Given the description of an element on the screen output the (x, y) to click on. 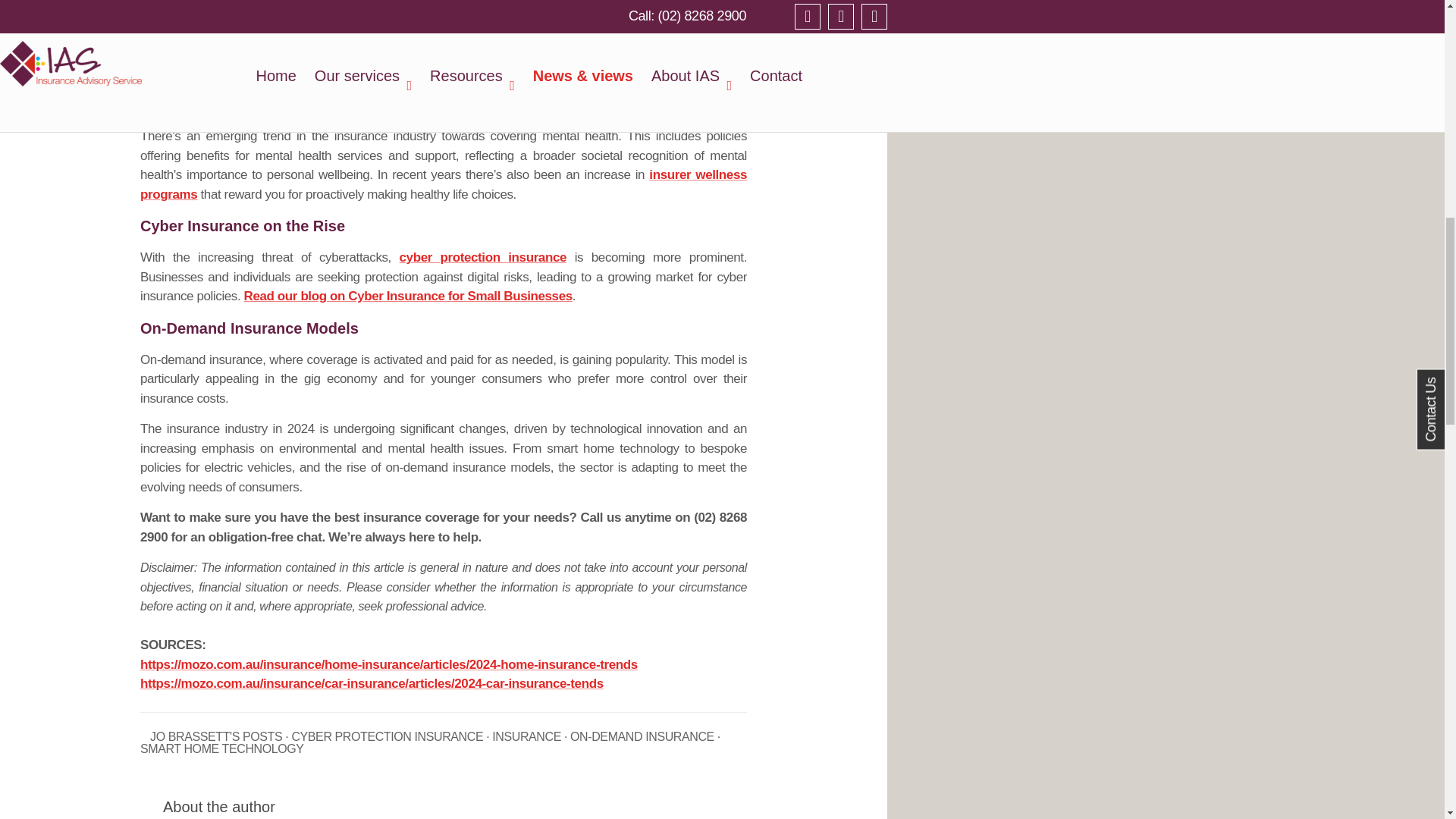
SMART HOME TECHNOLOGY (221, 748)
INSURANCE (526, 736)
JO BRASSETT'S POSTS (215, 736)
ON-DEMAND INSURANCE (642, 736)
CYBER PROTECTION INSURANCE (387, 736)
